Given the description of an element on the screen output the (x, y) to click on. 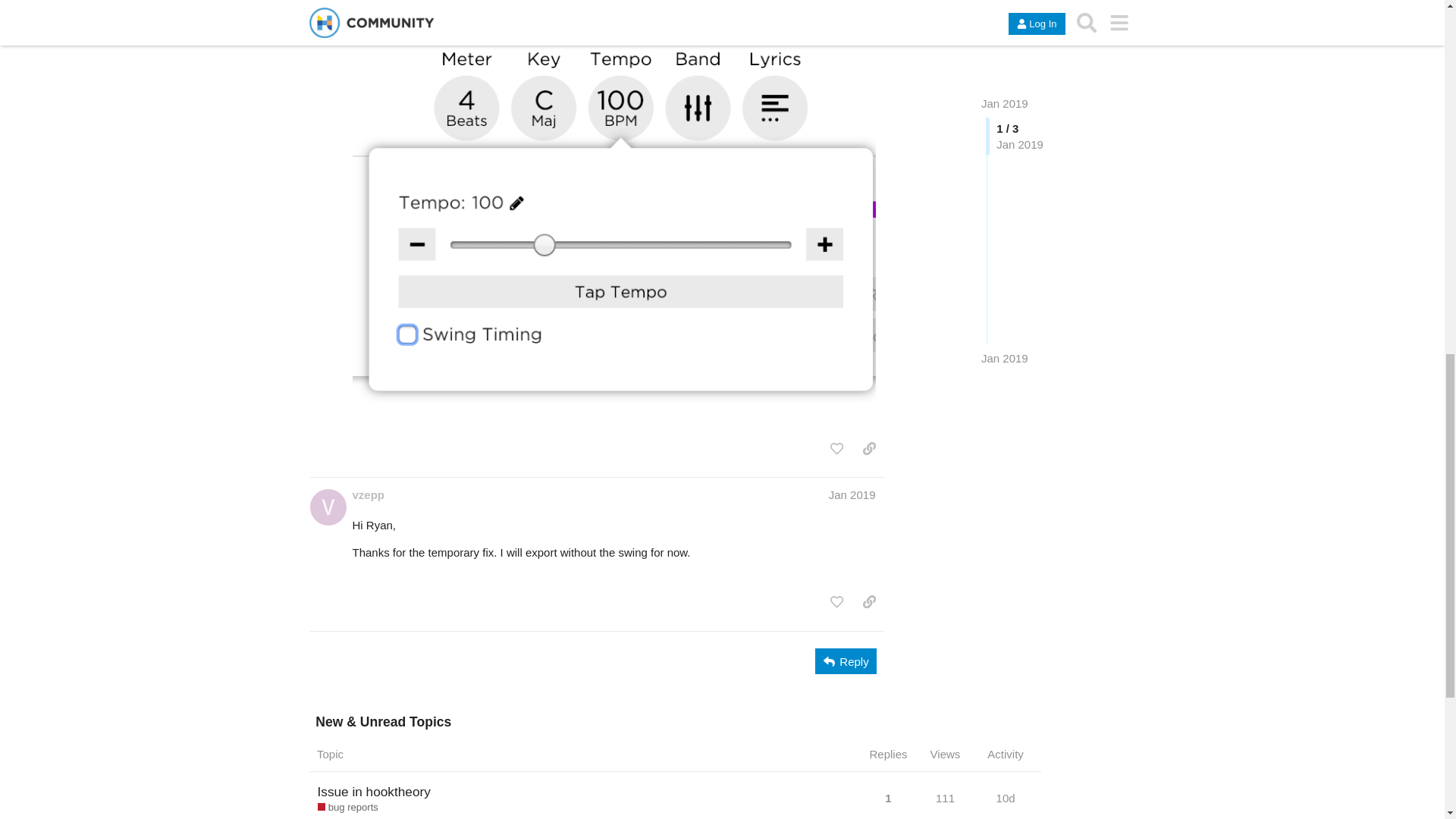
Reply (846, 661)
Jan 2019 (852, 494)
vzepp (368, 494)
